Given the description of an element on the screen output the (x, y) to click on. 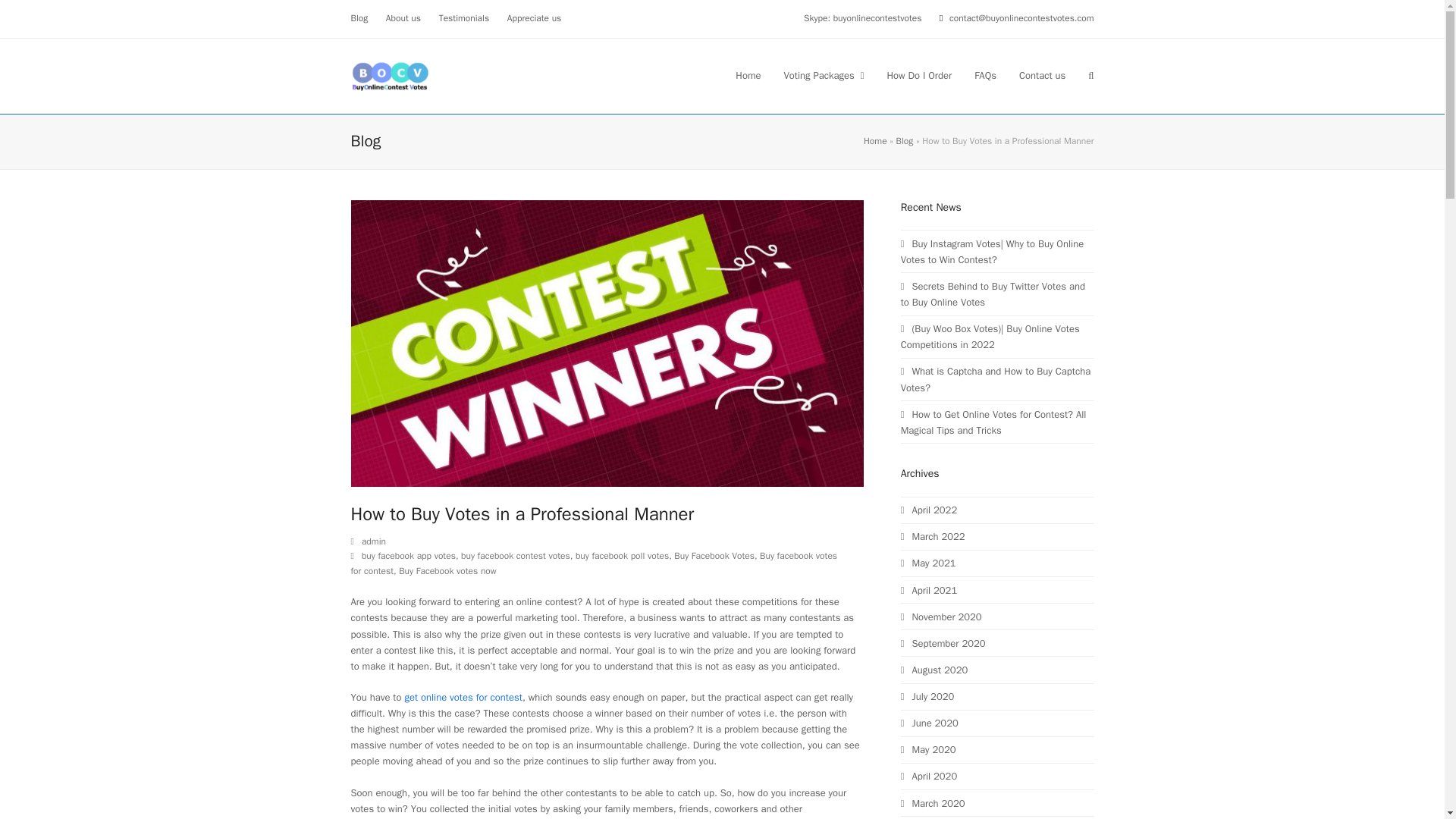
Buy facebook votes for contest (593, 563)
admin (373, 541)
Testimonials (464, 18)
Blog (905, 141)
Posts by admin (373, 541)
Blog (359, 18)
Voting Packages (824, 75)
buy facebook app votes (408, 555)
Buy Facebook Votes (714, 555)
Contact us (1042, 75)
